Given the description of an element on the screen output the (x, y) to click on. 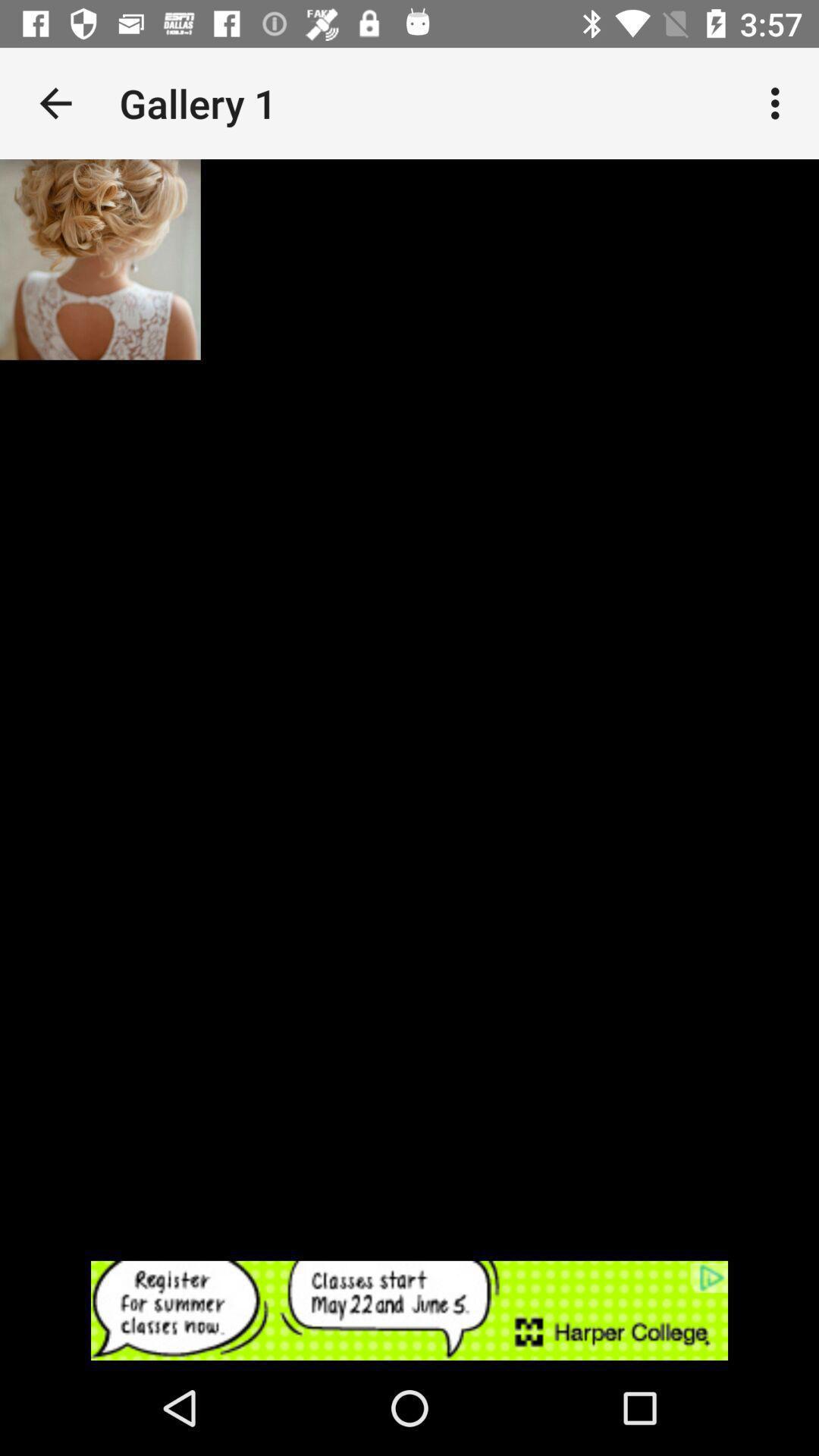
click on more settings icon (779, 103)
